Given the description of an element on the screen output the (x, y) to click on. 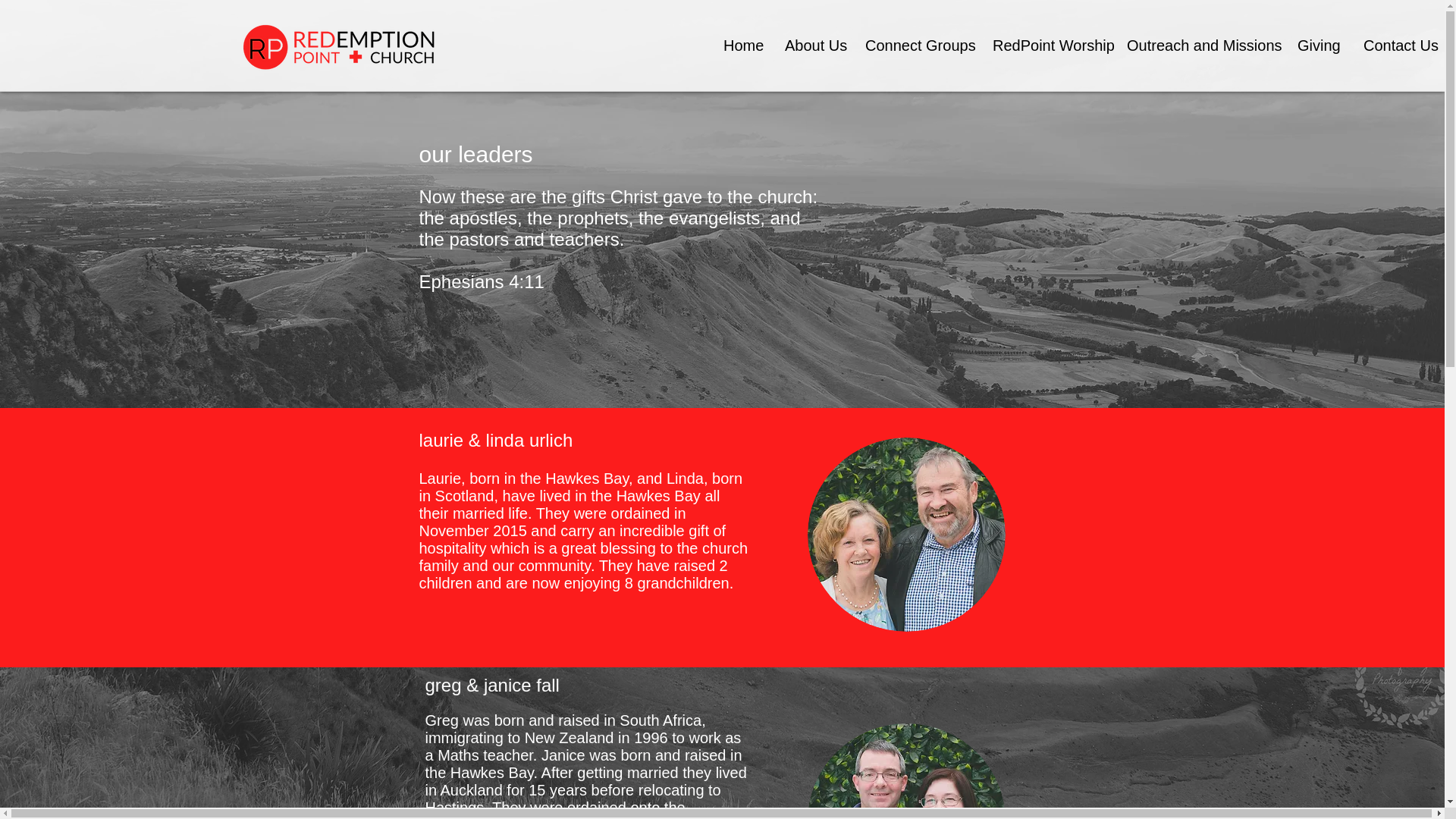
Connect Groups (916, 45)
Contact Us (1397, 45)
Outreach and Missions (1200, 45)
RedPoint Worship (1047, 45)
